Given the description of an element on the screen output the (x, y) to click on. 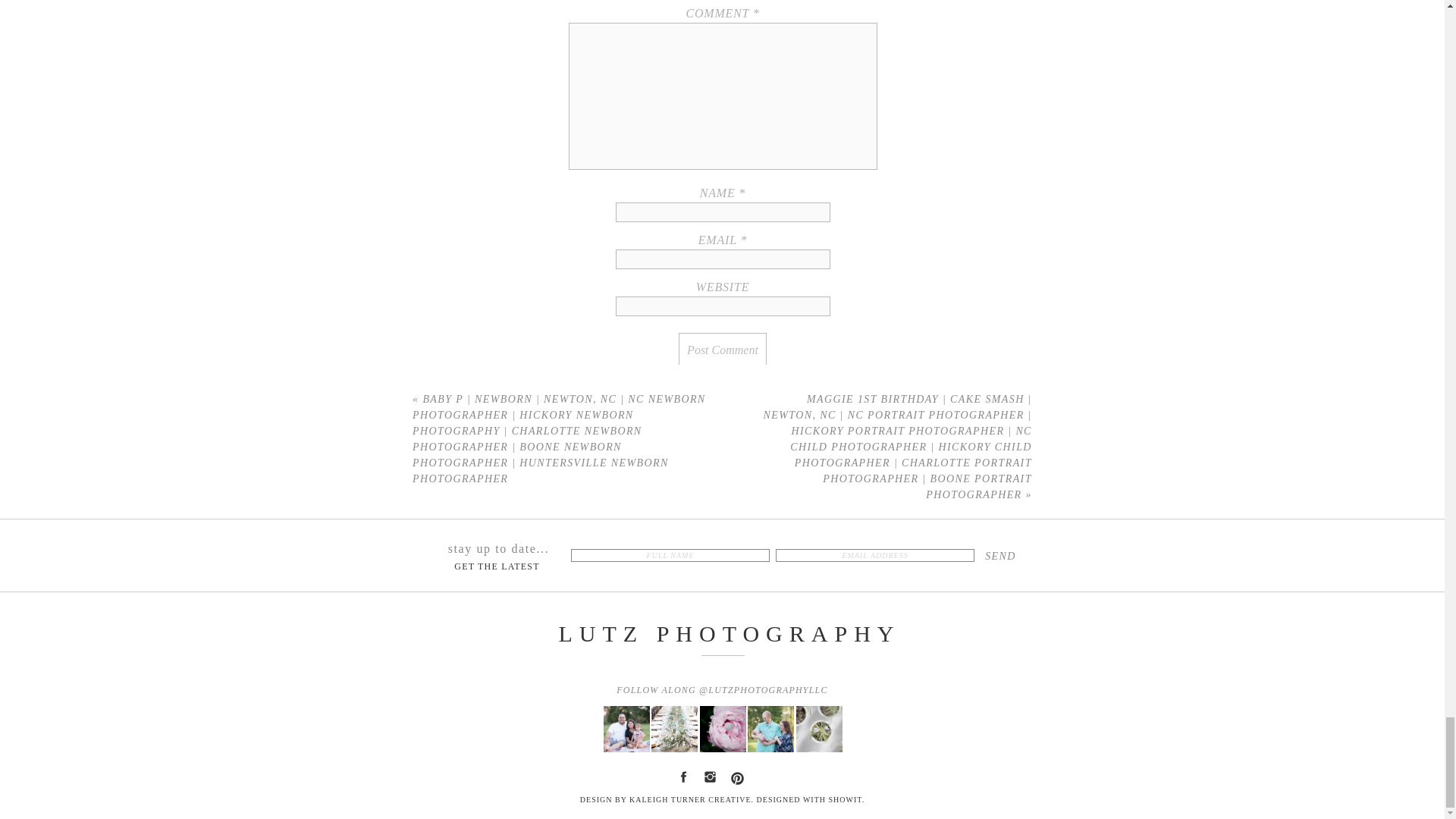
Post Comment (722, 349)
Post Comment (722, 349)
DESIGN BY KALEIGH TURNER CREATIVE. DESIGNED WITH SHOWIT. (722, 801)
SEND (1000, 555)
